Given the description of an element on the screen output the (x, y) to click on. 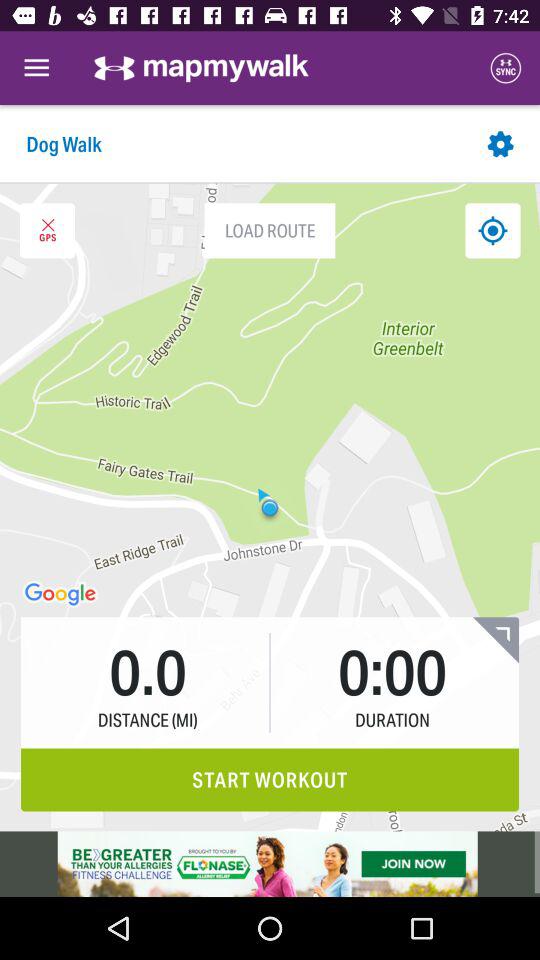
advertisement (270, 864)
